Given the description of an element on the screen output the (x, y) to click on. 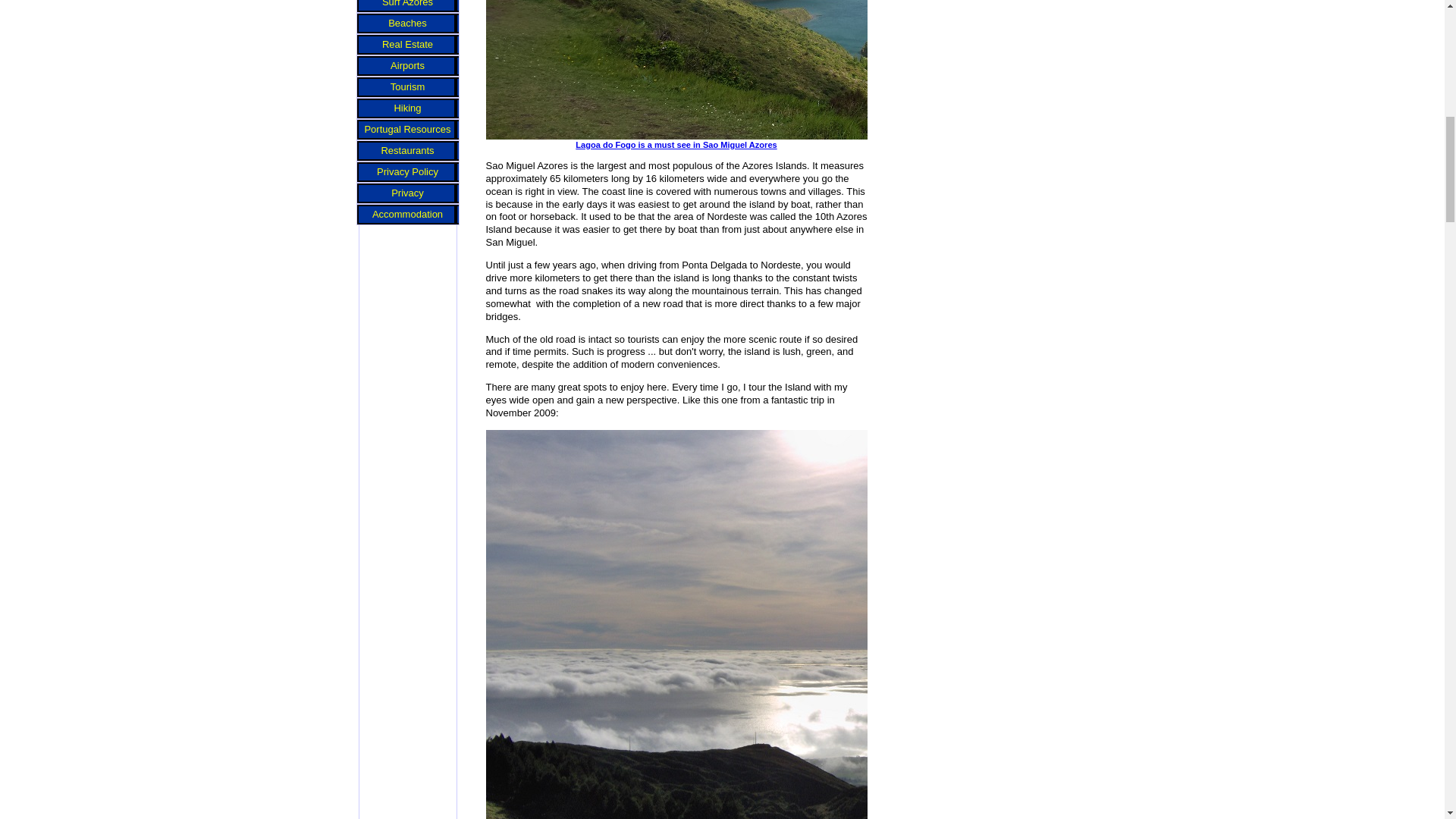
Lagoa do Fogo is a must see in Sao Miguel Azores (863, 139)
Lagoa do Fogo is a must see in Sao Miguel Azores (863, 69)
Lagoa do Fogo is a must see in Sao Miguel Azores (863, 139)
